Given the description of an element on the screen output the (x, y) to click on. 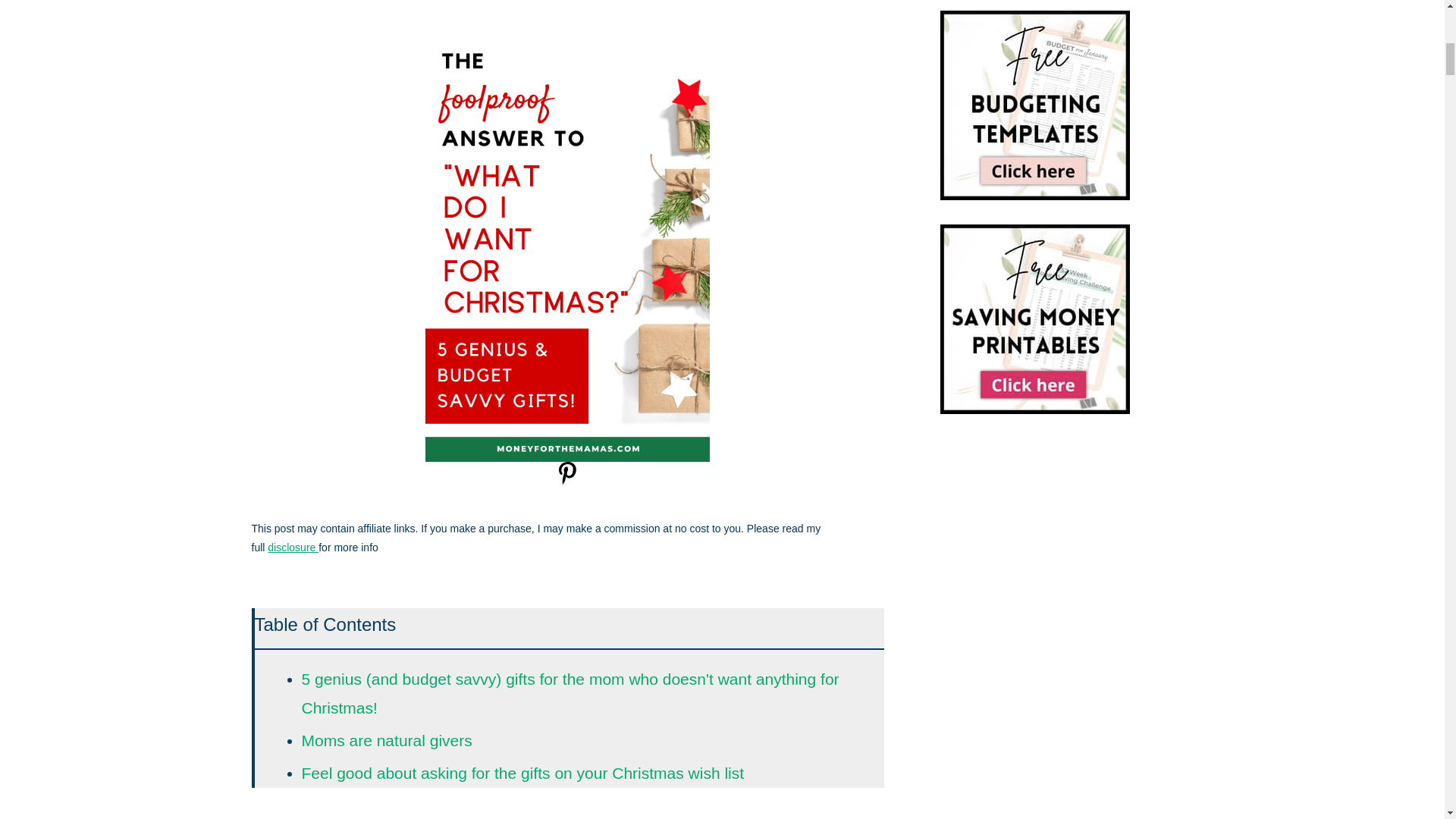
disclosure  (292, 547)
Save (567, 479)
